Given the description of an element on the screen output the (x, y) to click on. 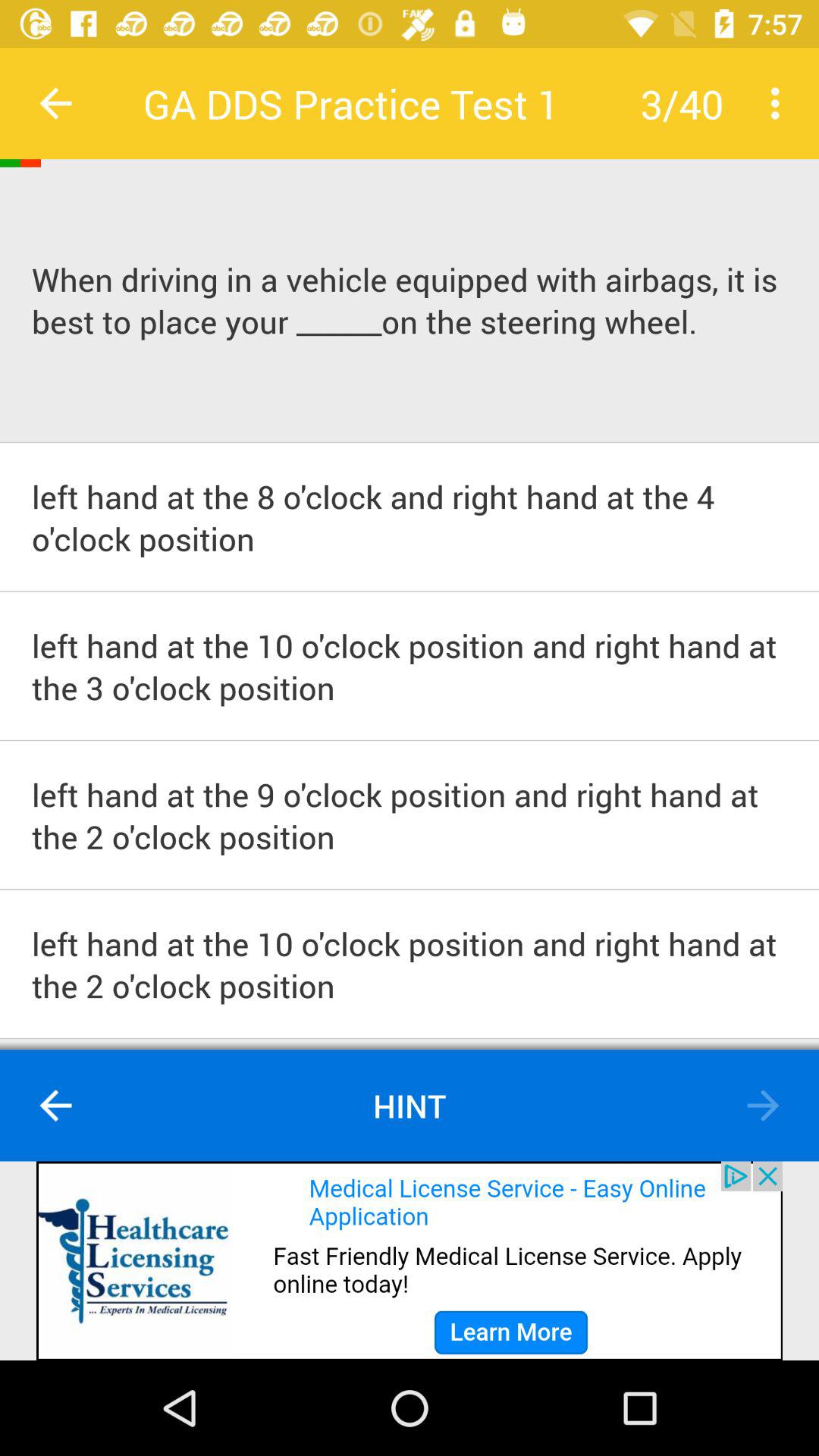
go back to last page (55, 1105)
